Given the description of an element on the screen output the (x, y) to click on. 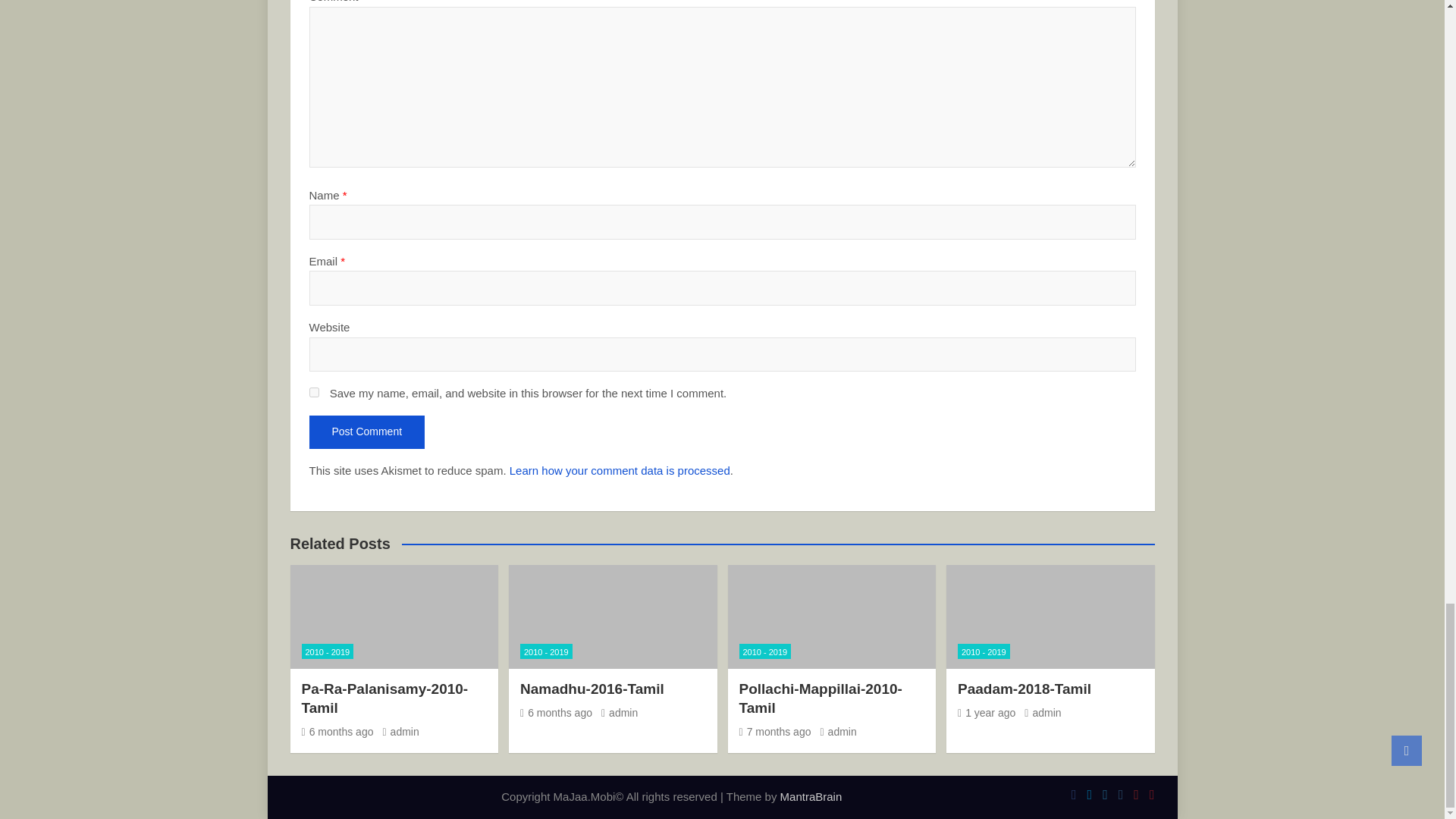
Namadhu-2016-Tamil (555, 712)
MantraBrain (811, 796)
Post Comment (366, 431)
Pa-Ra-Palanisamy-2010-Tamil (337, 731)
Paadam-2018-Tamil (986, 712)
Pollachi-Mappillai-2010-Tamil (774, 731)
yes (313, 392)
